Given the description of an element on the screen output the (x, y) to click on. 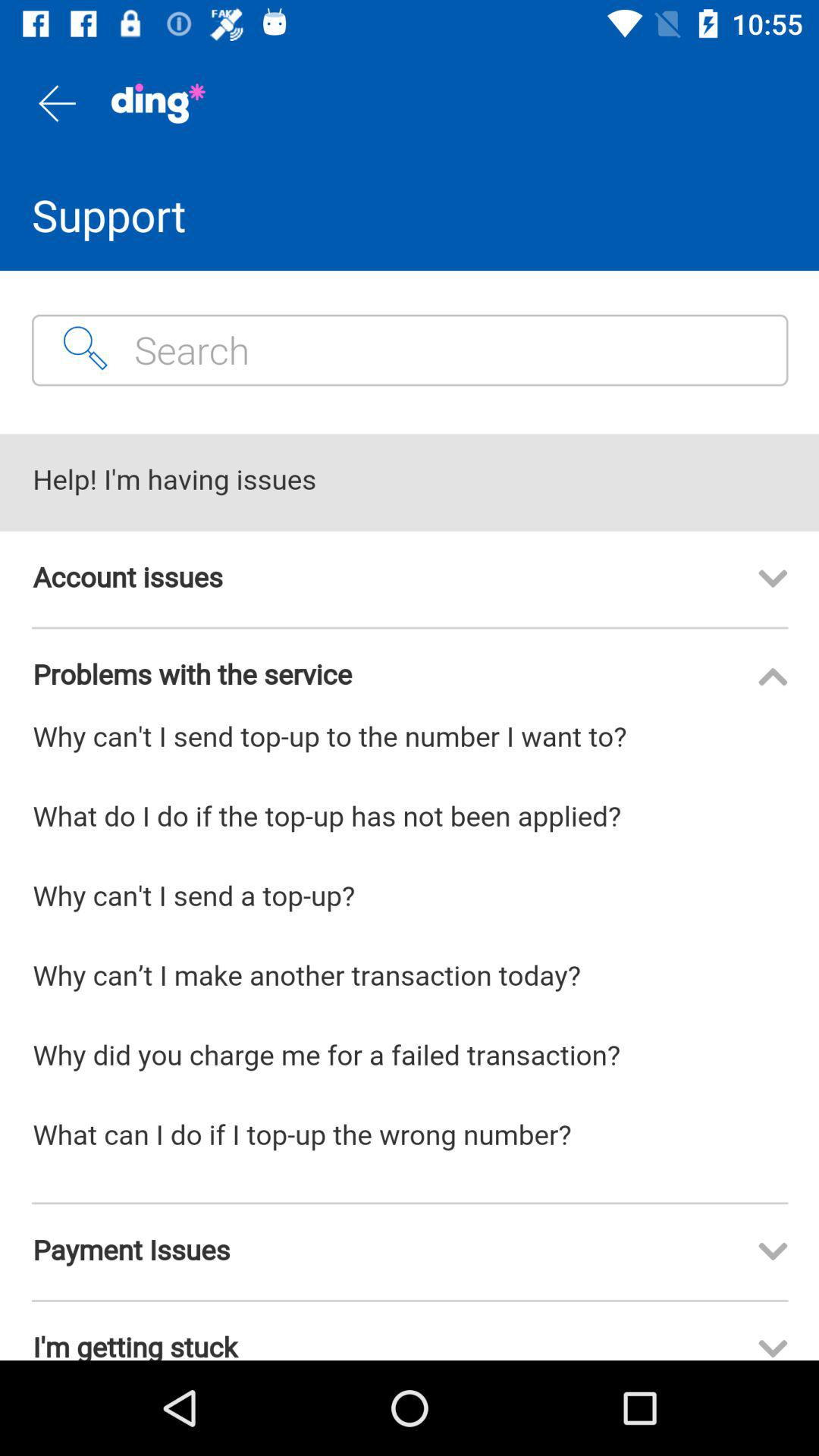
go to previous (55, 103)
